Given the description of an element on the screen output the (x, y) to click on. 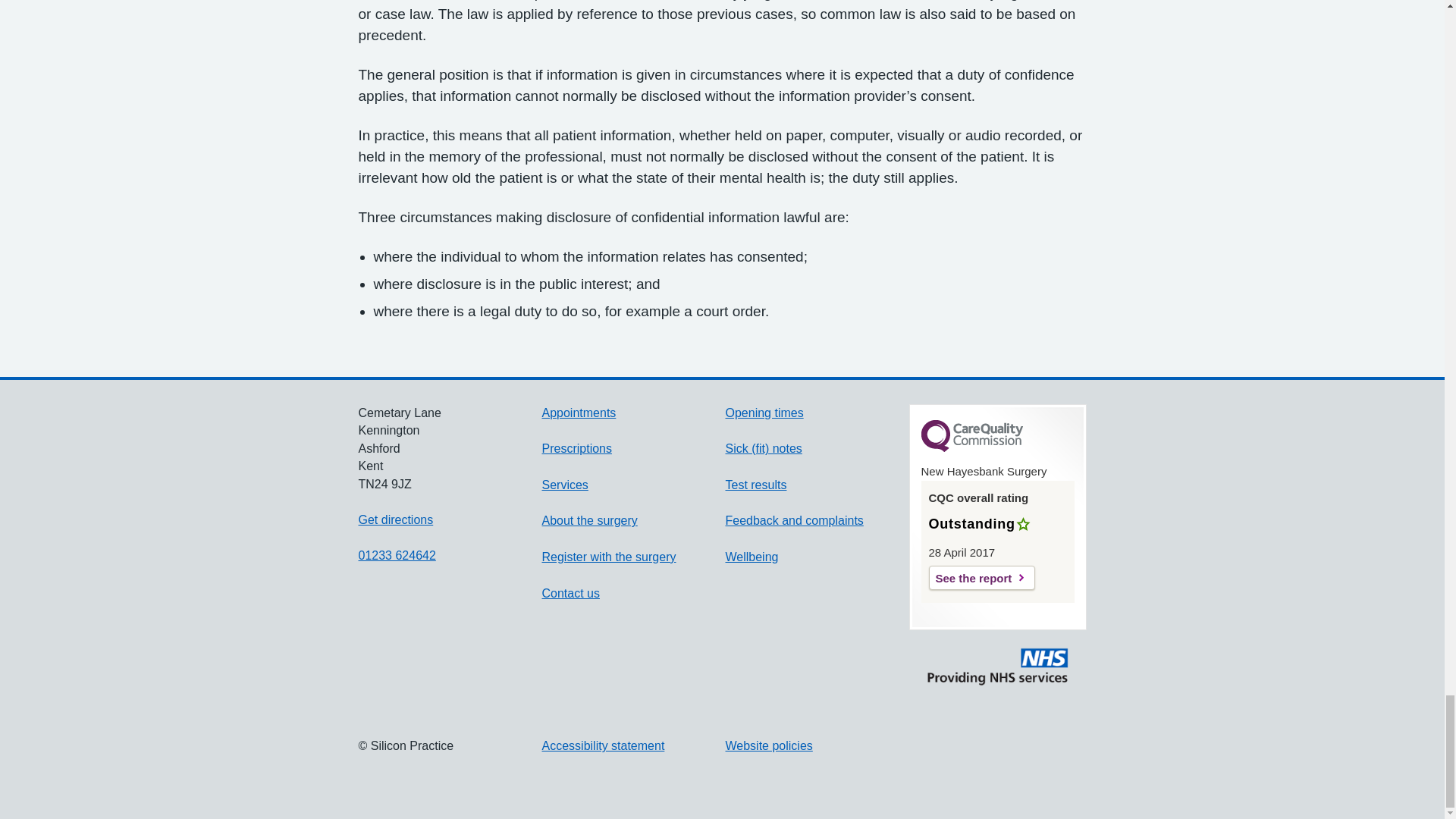
Services (564, 484)
About the surgery (589, 520)
Prescriptions (576, 448)
Opening times (764, 412)
Appointments (578, 412)
Get directions (395, 519)
Register with the surgery (608, 556)
01233 624642 (396, 554)
Contact us (569, 593)
Test results (755, 484)
